Given the description of an element on the screen output the (x, y) to click on. 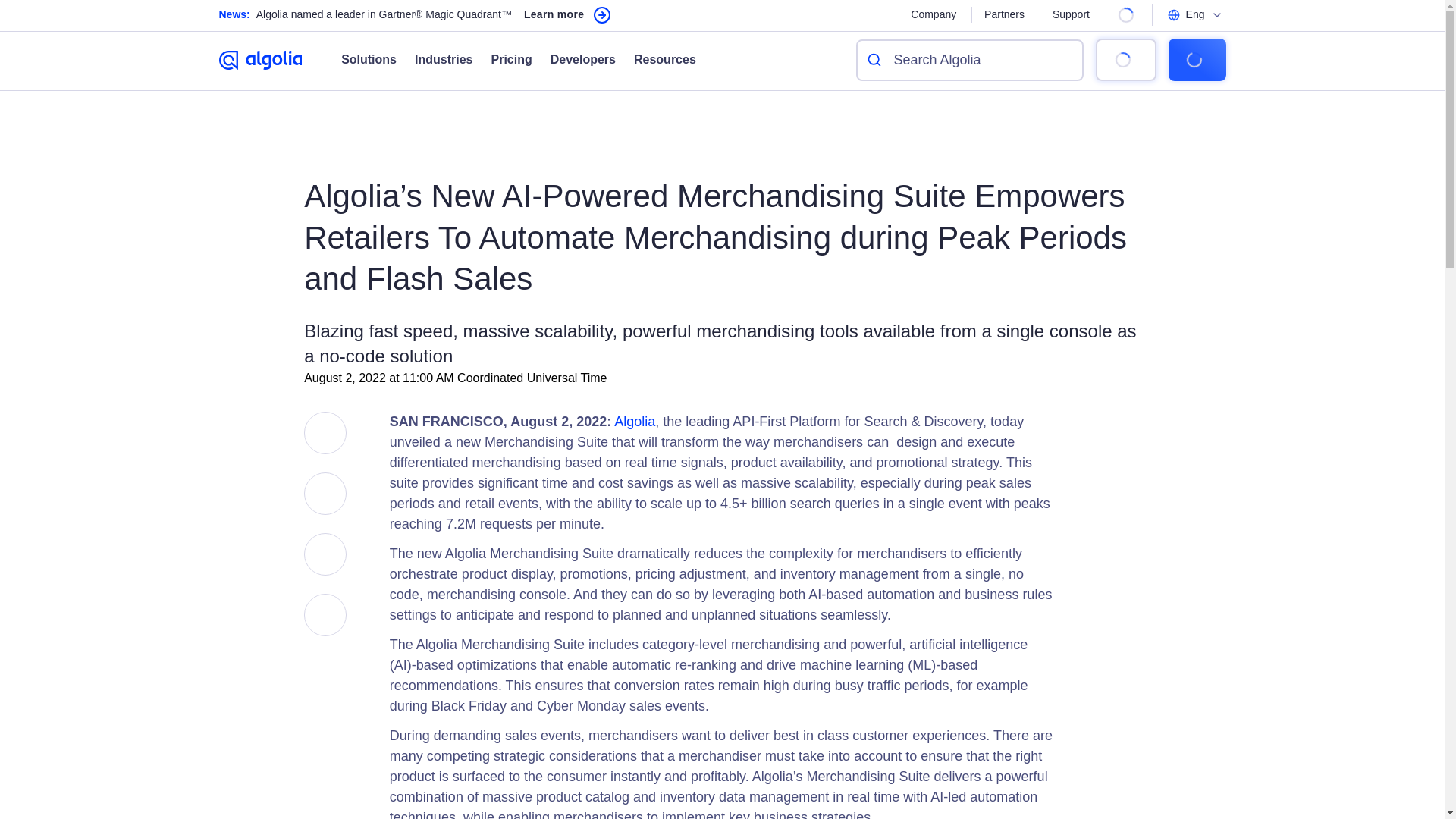
ArrowRightCircle (601, 14)
Developers (573, 59)
Solutions (368, 59)
Pricing (501, 59)
Resources (655, 59)
Industries (433, 59)
